Given the description of an element on the screen output the (x, y) to click on. 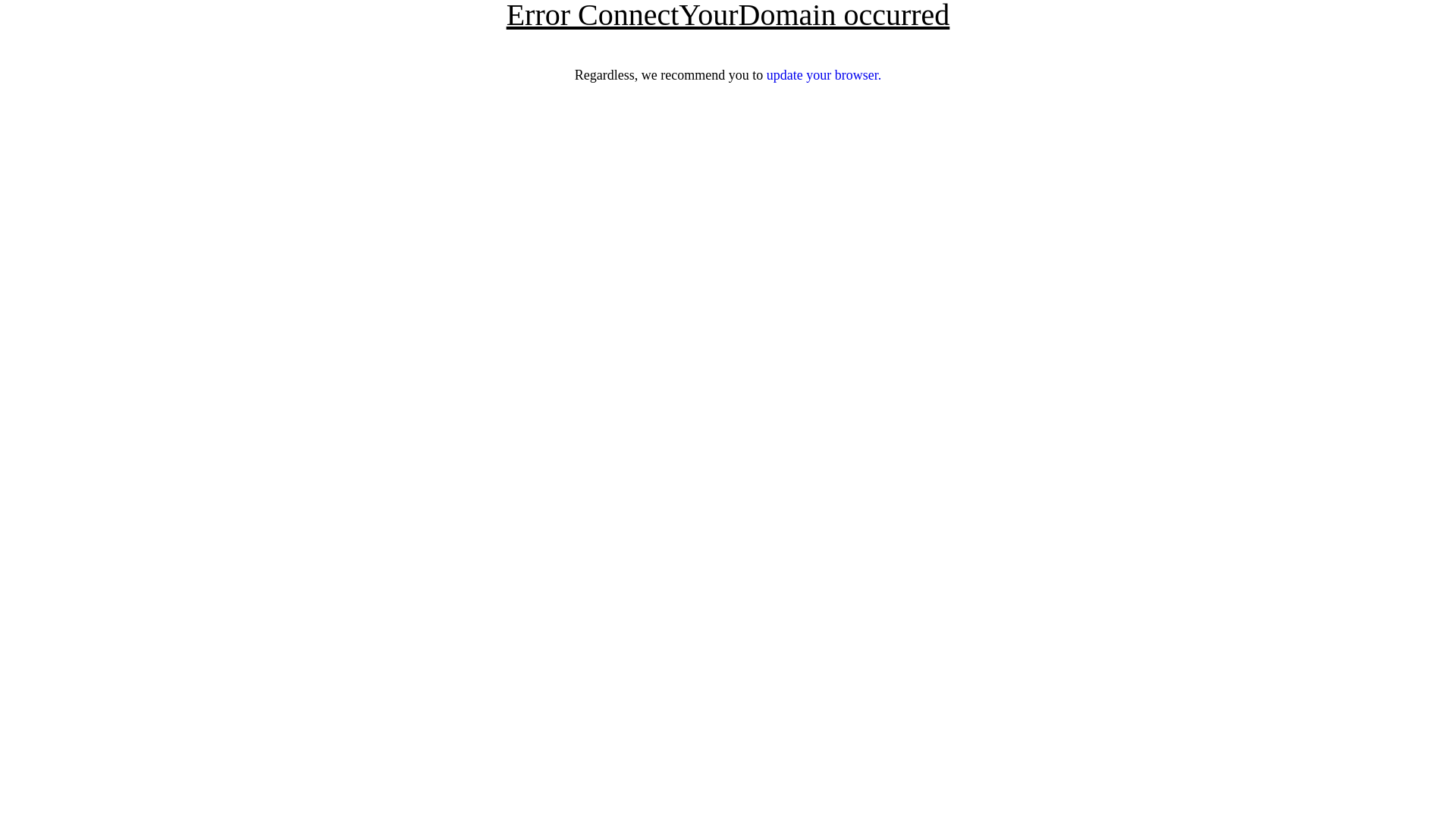
update your browser. Element type: text (823, 74)
